Given the description of an element on the screen output the (x, y) to click on. 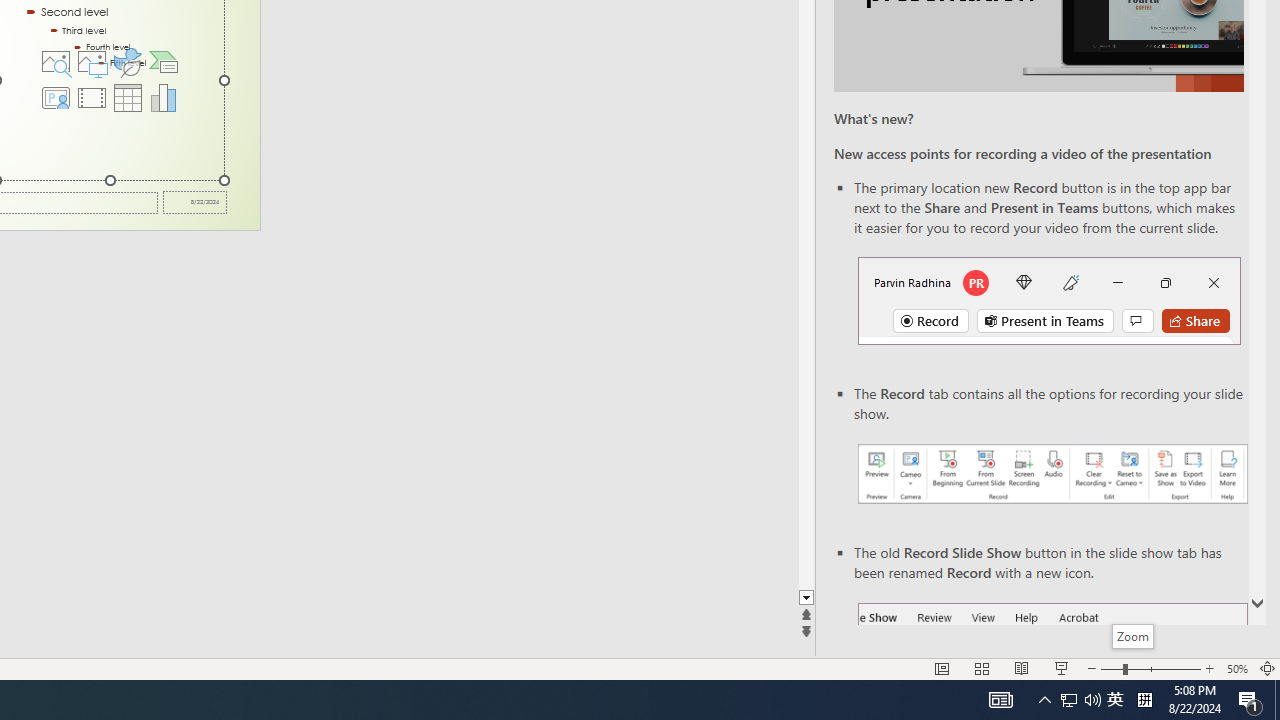
Insert Video (91, 97)
Insert Table (127, 97)
Record your presentations screenshot one (1052, 473)
Insert a SmartArt Graphic (164, 61)
Record button in top bar (1049, 300)
Stock Images (55, 61)
Insert an Icon (127, 61)
